Given the description of an element on the screen output the (x, y) to click on. 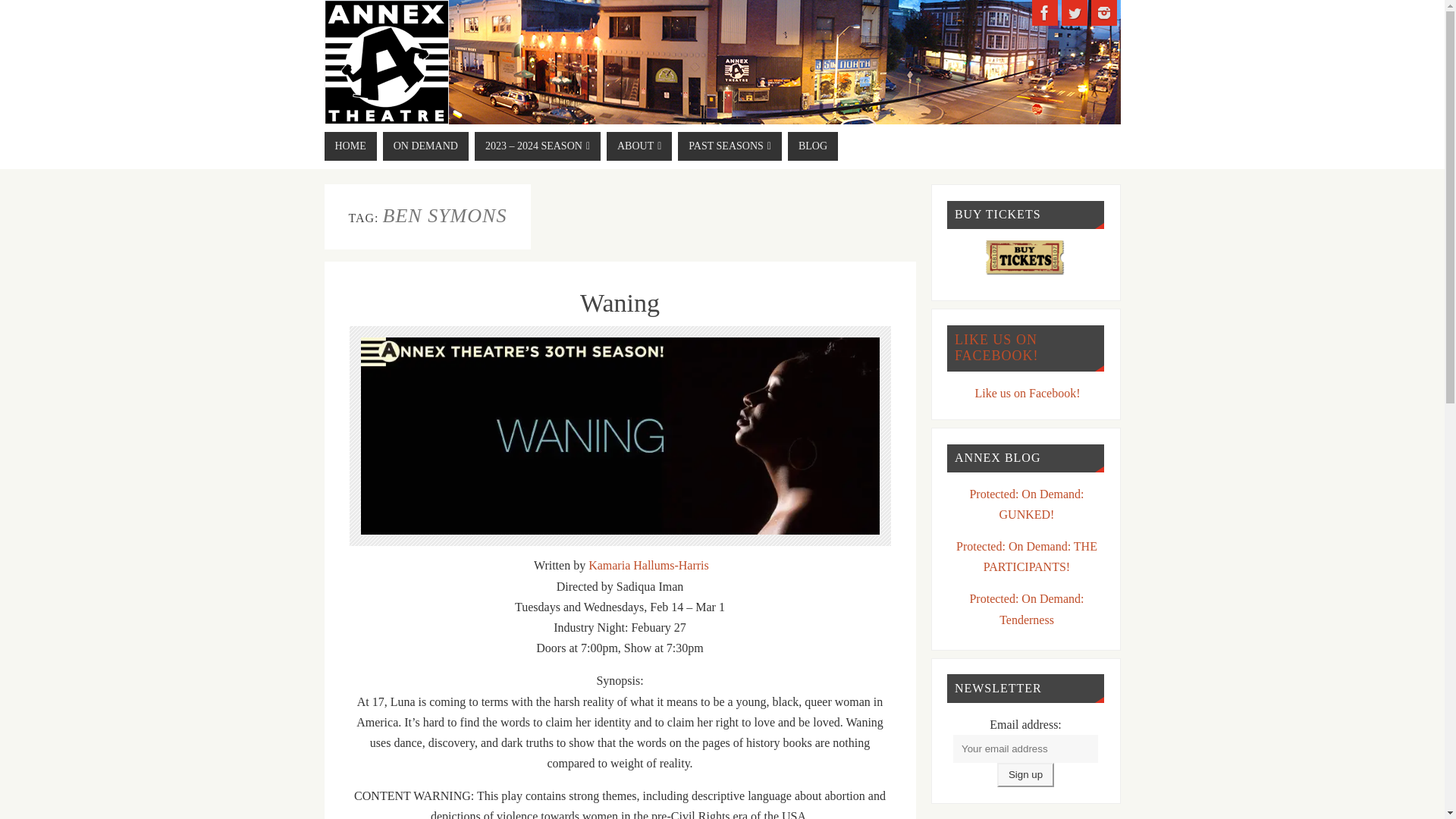
PAST SEASONS (729, 145)
Annex Theatre (386, 62)
Instagram (1103, 12)
Facebook (1043, 12)
Permalink to Waning (619, 302)
ABOUT (639, 145)
HOME (350, 145)
Twitter (1074, 12)
Sign up (1025, 774)
ON DEMAND (425, 145)
